Given the description of an element on the screen output the (x, y) to click on. 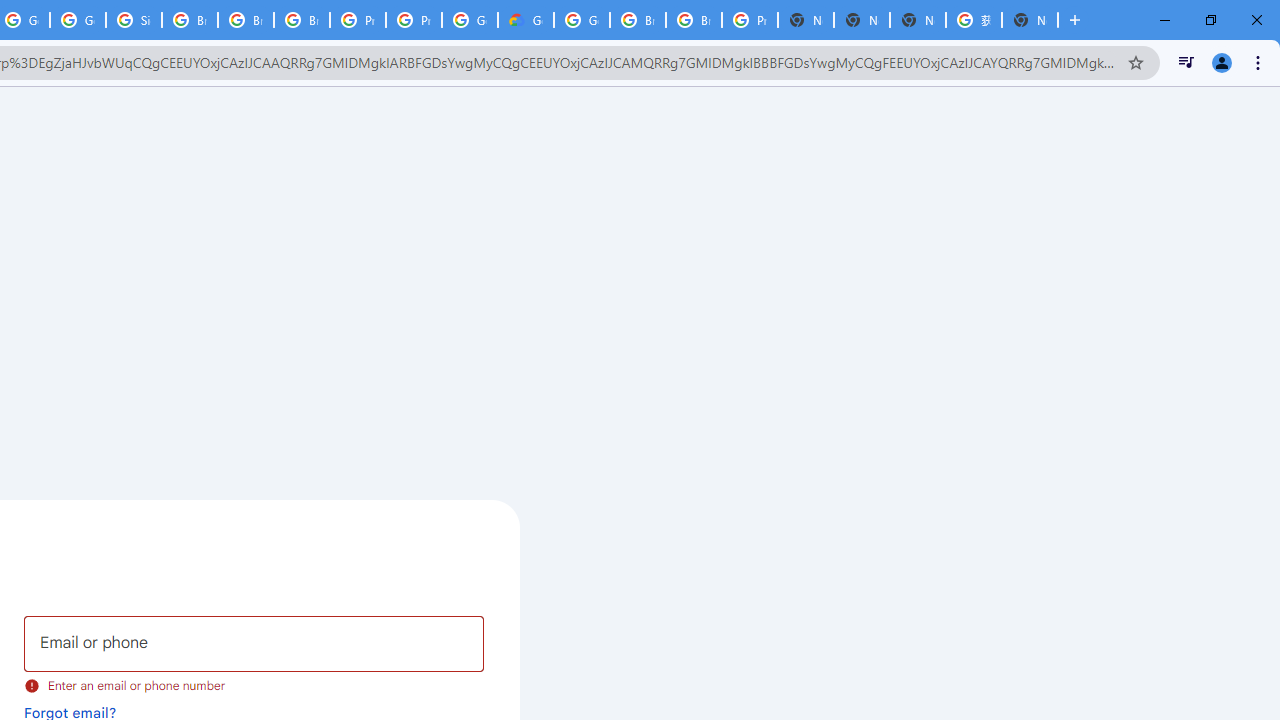
Sign in - Google Accounts (134, 20)
Browse Chrome as a guest - Computer - Google Chrome Help (189, 20)
Google Cloud Platform (469, 20)
Browse Chrome as a guest - Computer - Google Chrome Help (245, 20)
Google Cloud Platform (582, 20)
